Given the description of an element on the screen output the (x, y) to click on. 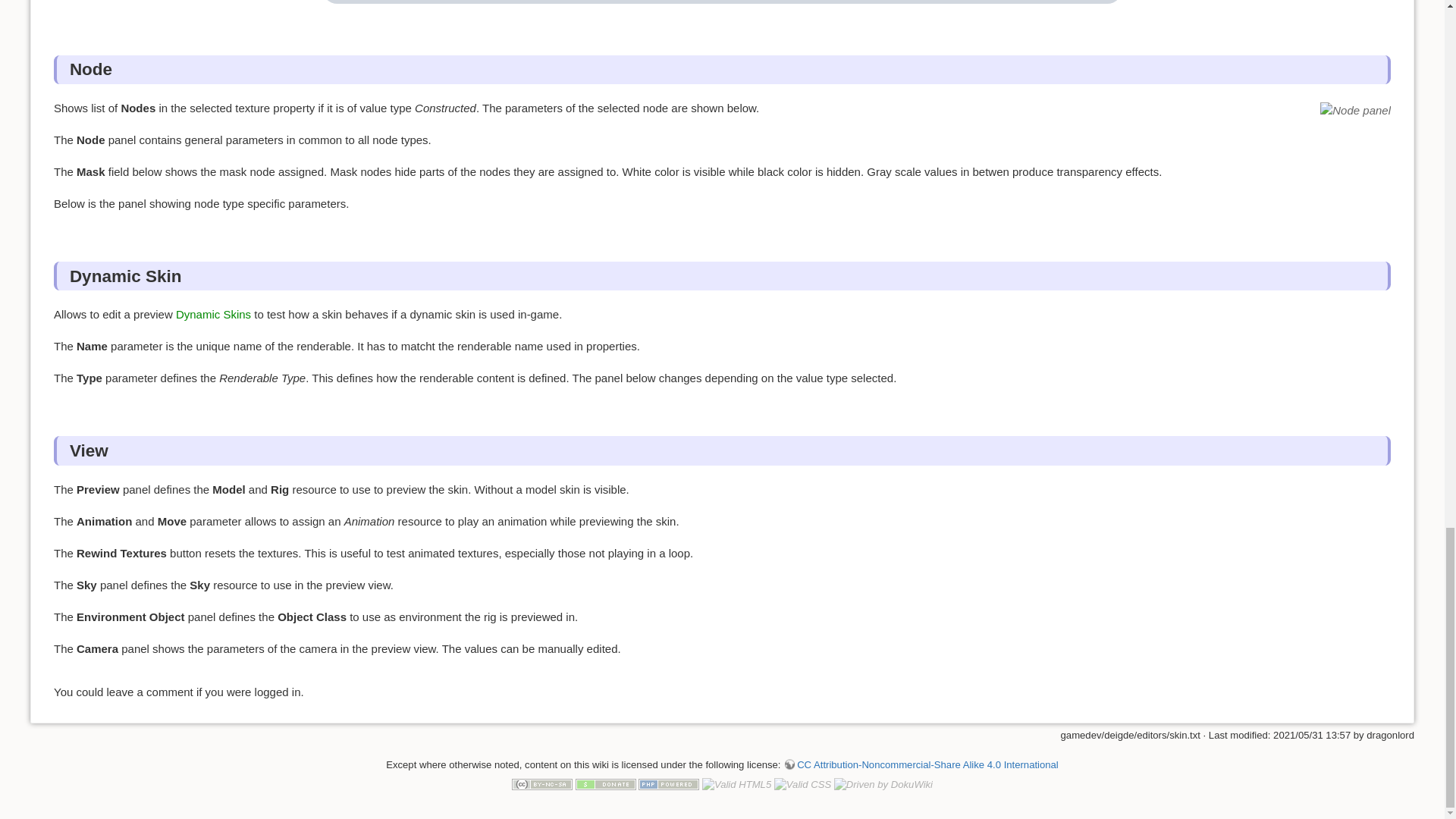
Dynamic Skins (213, 314)
